Given the description of an element on the screen output the (x, y) to click on. 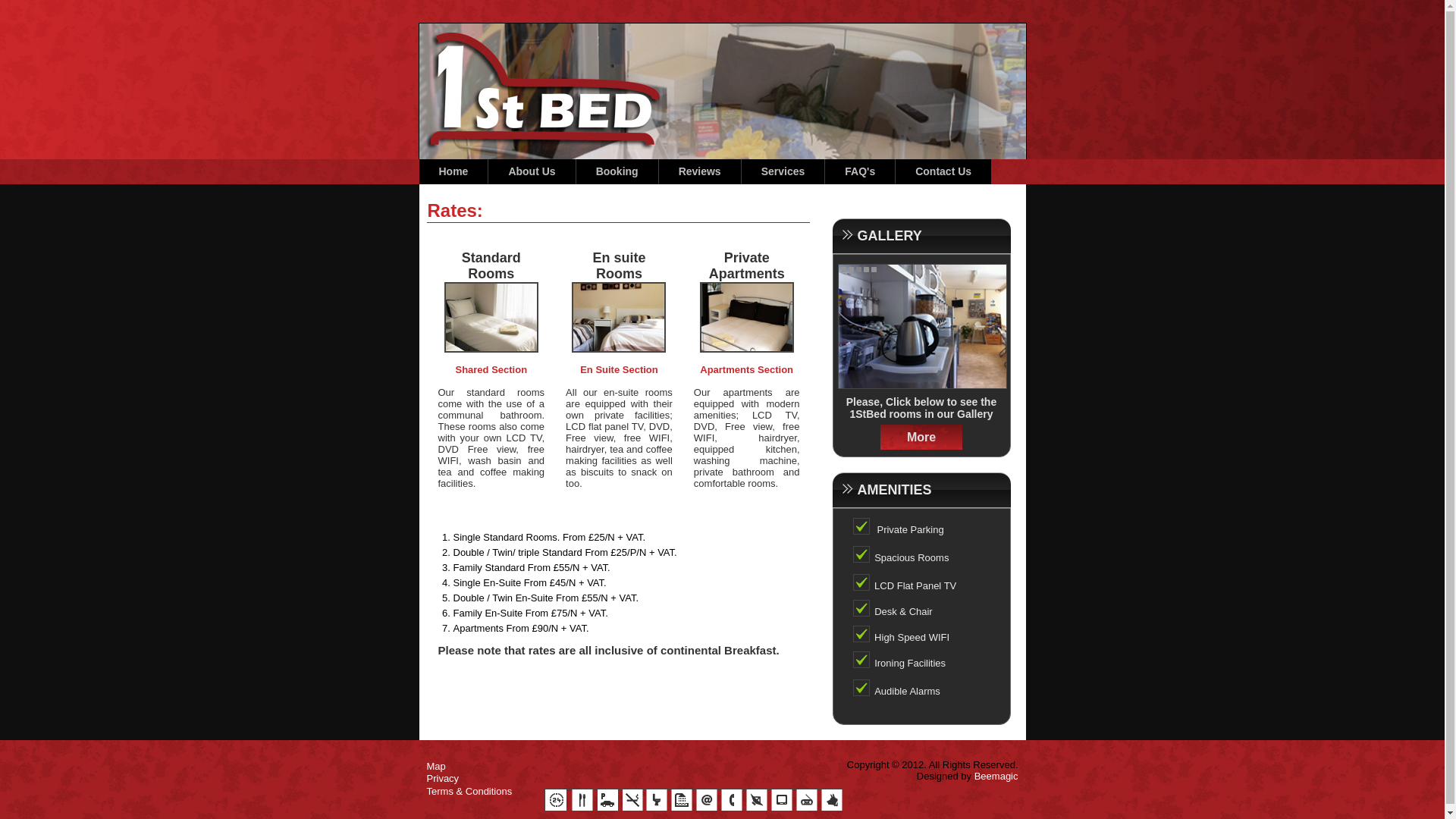
Beemagic Element type: text (996, 775)
Home Element type: text (452, 171)
En Suite Section Element type: text (619, 369)
FAQ's Element type: text (859, 171)
Booking Element type: text (617, 171)
Services Element type: text (783, 171)
Map Element type: text (435, 765)
Apartments Section Element type: text (746, 369)
Terms & Conditions Element type: text (468, 791)
Reviews Element type: text (699, 171)
Privacy Element type: text (442, 778)
About Us Element type: text (531, 171)
Contact Us Element type: text (943, 171)
More Element type: text (921, 436)
Shared Section Element type: text (491, 369)
